Given the description of an element on the screen output the (x, y) to click on. 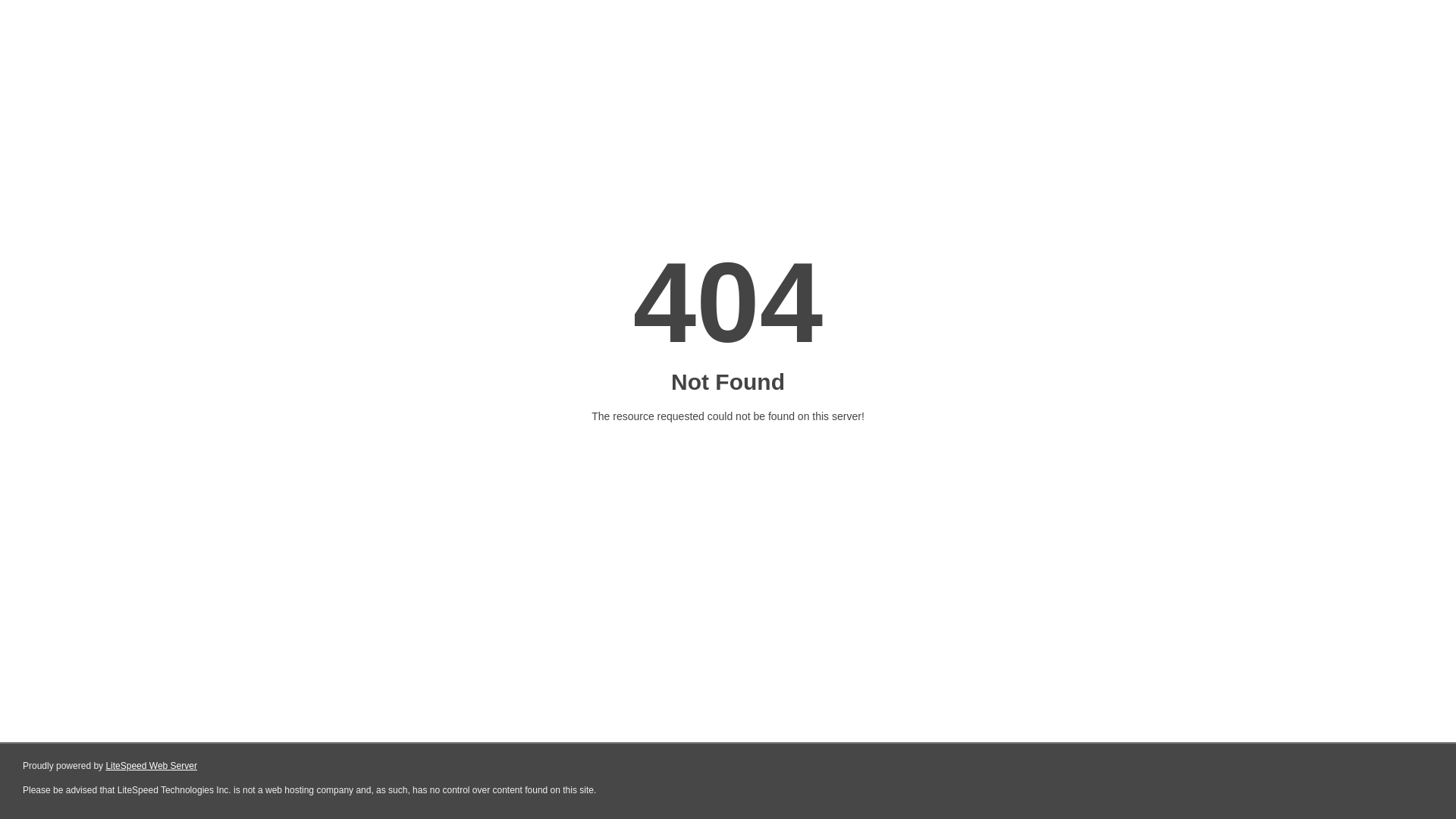
LiteSpeed Web Server Element type: text (151, 765)
